Given the description of an element on the screen output the (x, y) to click on. 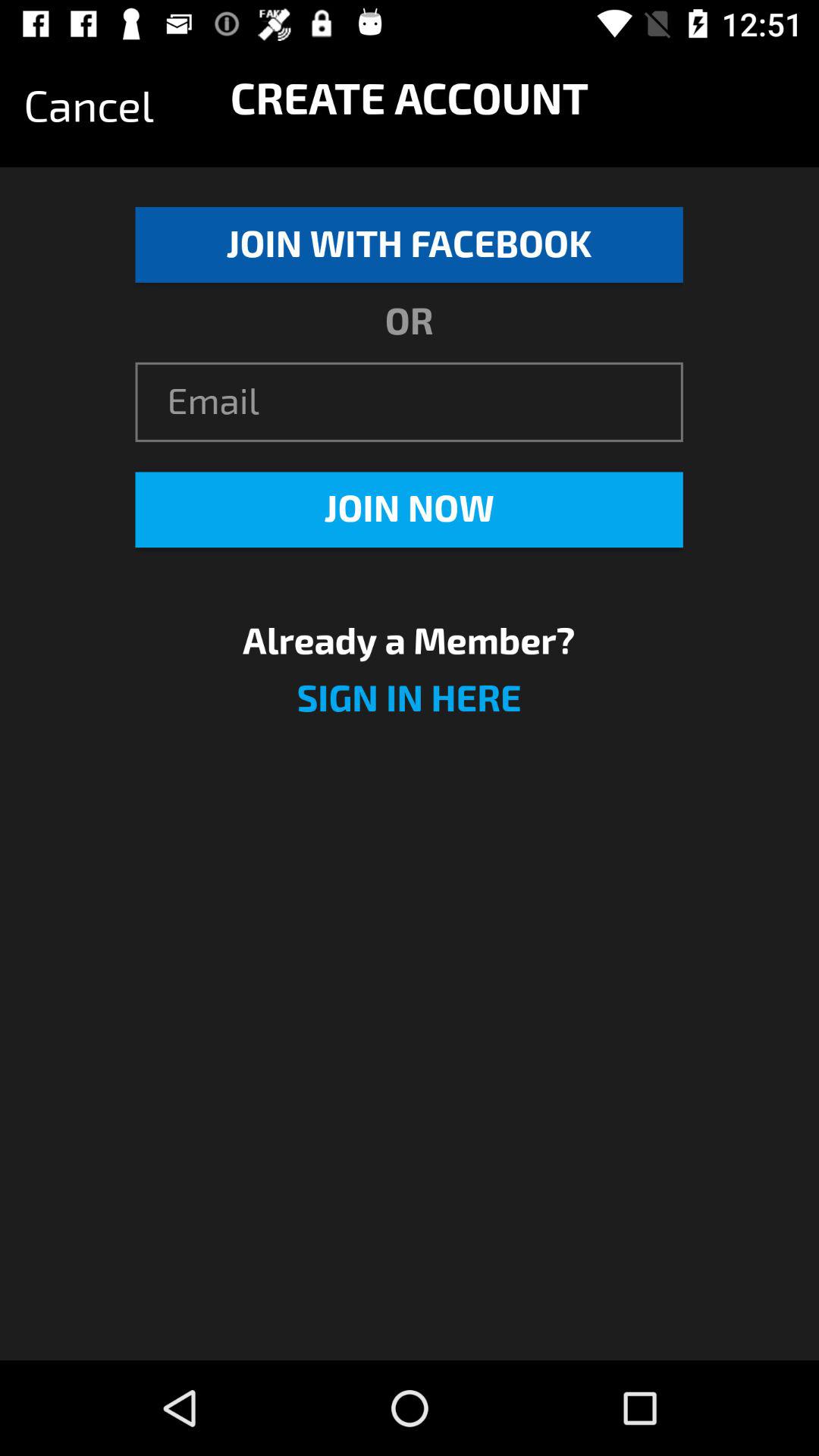
flip to sign in here icon (408, 708)
